Given the description of an element on the screen output the (x, y) to click on. 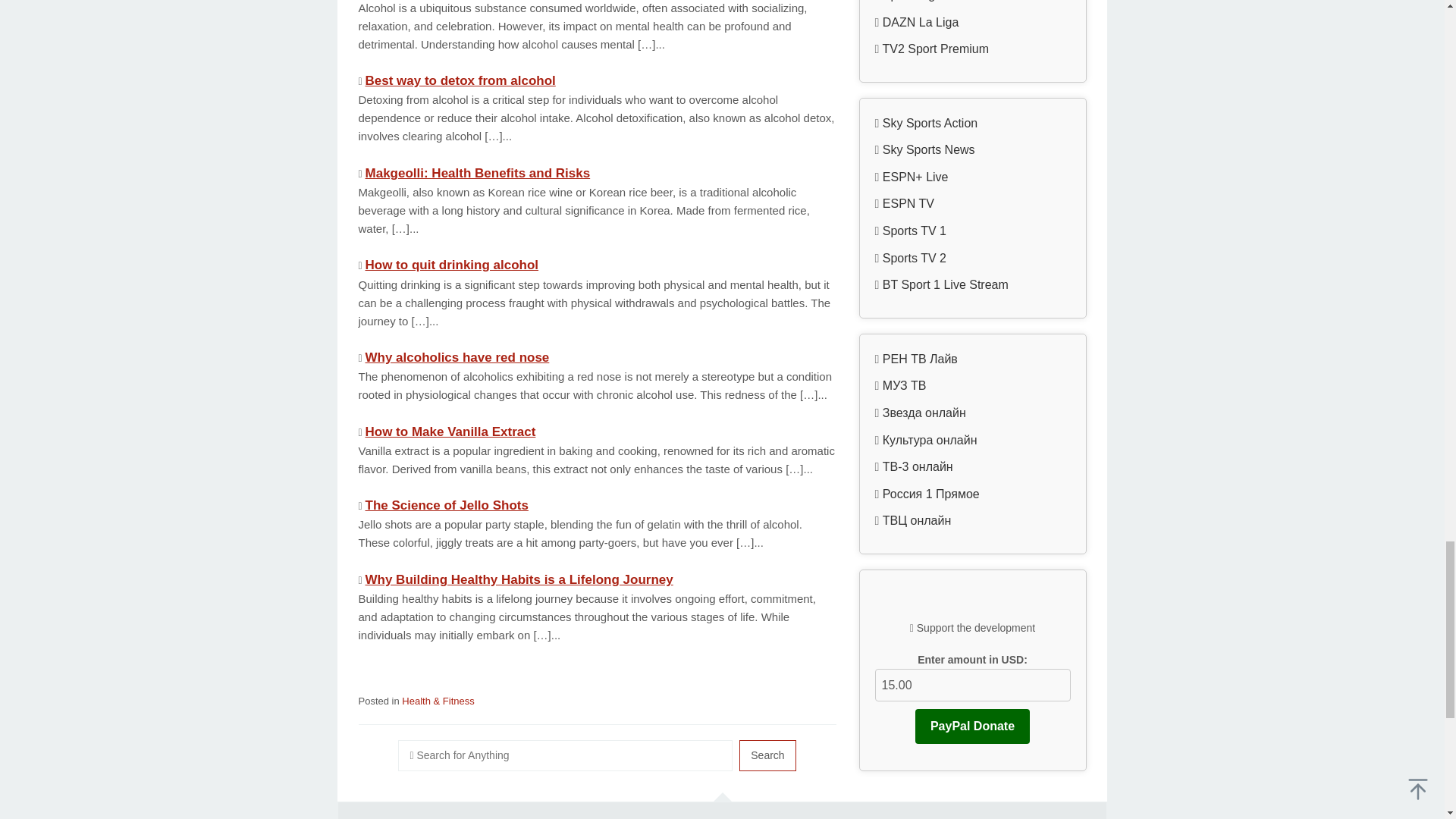
Makgeolli: Health Benefits and Risks (478, 173)
Search (766, 755)
How to Make Vanilla Extract (450, 431)
Why Building Healthy Habits is a Lifelong Journey (518, 579)
How to Make Vanilla Extract (450, 431)
The Science of Jello Shots (446, 504)
Why Building Healthy Habits is a Lifelong Journey (518, 579)
Makgeolli: Health Benefits and Risks (478, 173)
Best way to detox from alcohol (460, 80)
How to quit drinking alcohol (451, 264)
